Given the description of an element on the screen output the (x, y) to click on. 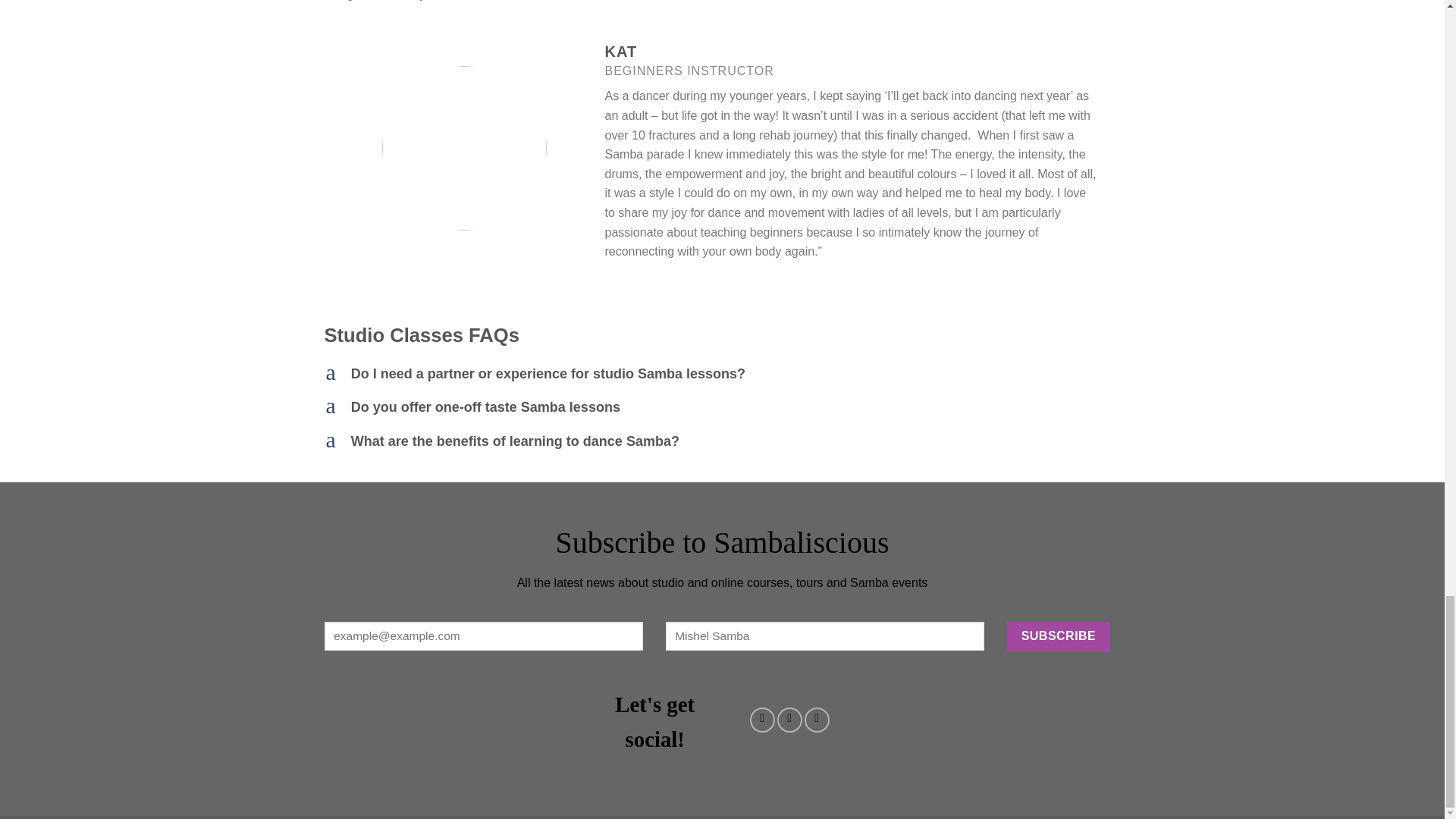
Follow on Instagram (789, 719)
Follow on YouTube (817, 719)
Subscribe (1058, 636)
Follow on Facebook (761, 719)
